Given the description of an element on the screen output the (x, y) to click on. 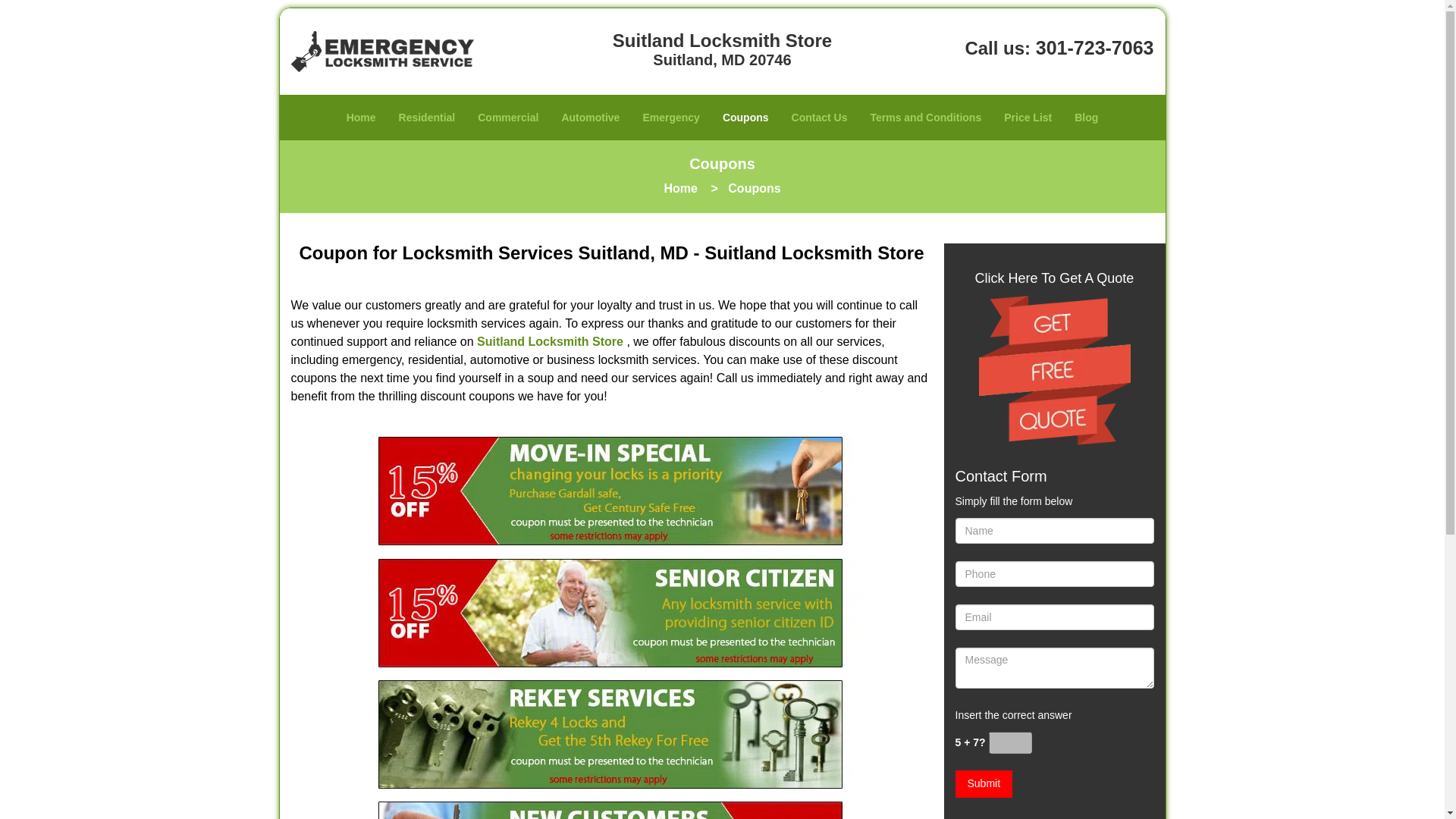
Email Field required (1054, 616)
Blog (1085, 117)
301-723-7063 (1094, 47)
Residential (427, 117)
Coupons (745, 117)
Home (680, 187)
Name Field required (1054, 530)
Message Field require (1054, 667)
Suitland Locksmith Store (550, 341)
Submit (984, 783)
Suitland Locksmith Store Suitland, MD 301-723-7063 (1053, 370)
Emergency (670, 117)
Contact Us (819, 117)
Commercial (507, 117)
